Given the description of an element on the screen output the (x, y) to click on. 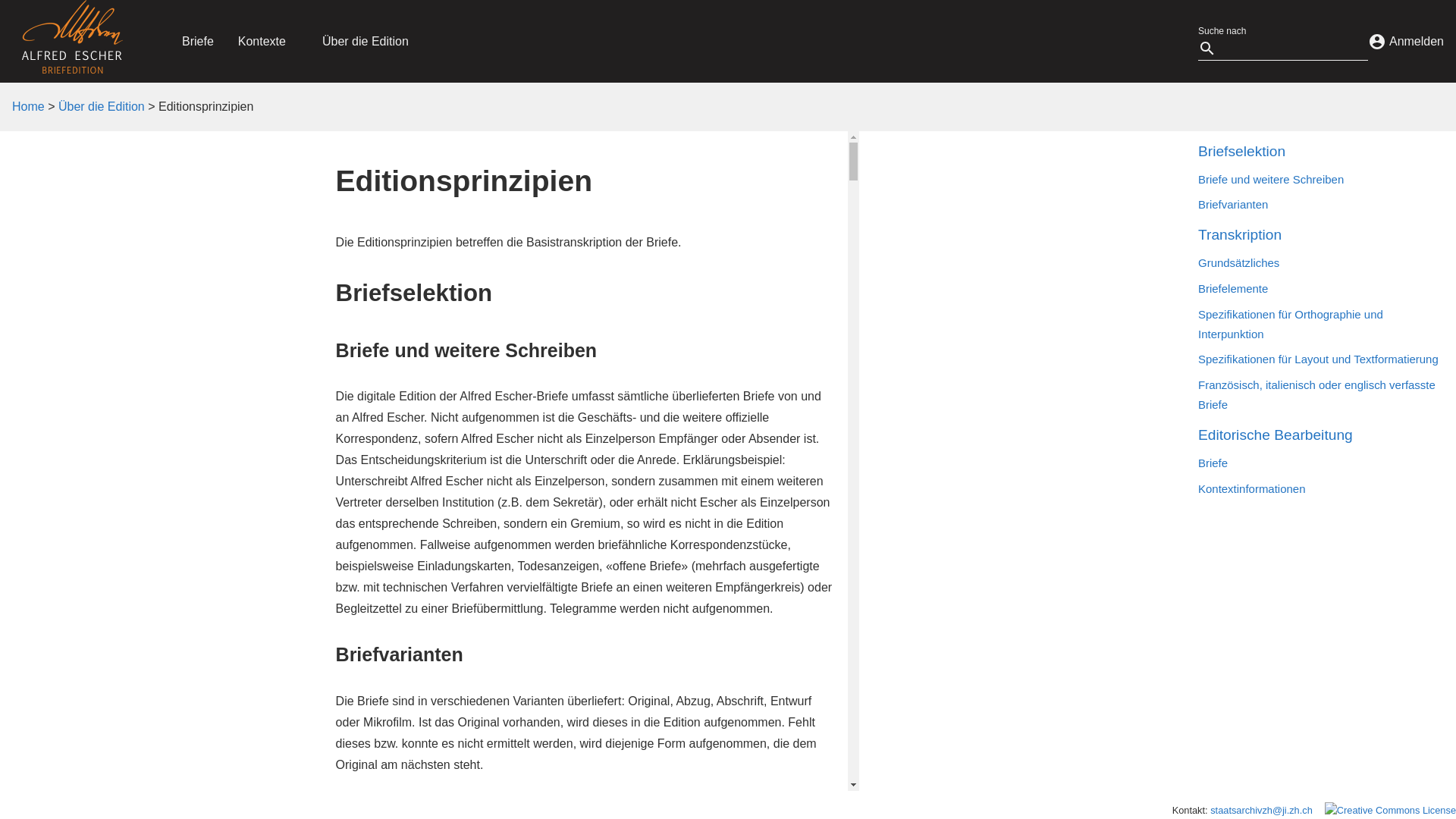
Briefselektion Element type: text (1319, 151)
Transkription Element type: text (1319, 234)
Kontexte Element type: text (261, 40)
Home Element type: text (28, 106)
Kontextinformationen Element type: text (1319, 488)
Briefvarianten Element type: text (1319, 204)
Briefe und weitere Schreiben Element type: text (1319, 179)
Briefelemente Element type: text (1319, 288)
Briefe Element type: text (197, 40)
Briefe Element type: text (1319, 463)
Editorische Bearbeitung Element type: text (1319, 435)
staatsarchivzh@ji.zh.ch Element type: text (1261, 809)
